Given the description of an element on the screen output the (x, y) to click on. 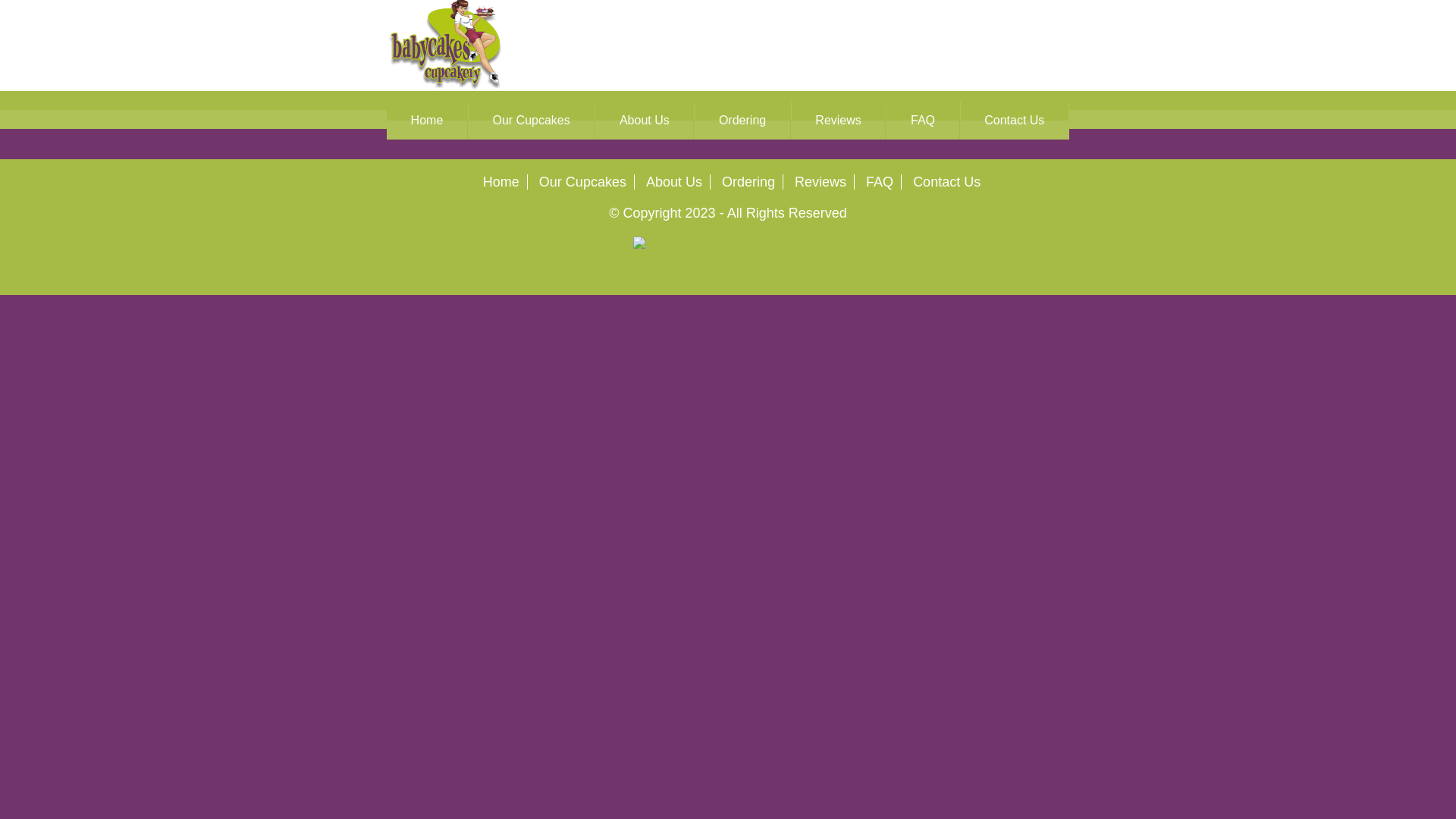
Ordering Element type: text (741, 120)
Reviews Element type: text (838, 120)
About Us Element type: text (644, 120)
Our Cupcakes Element type: text (582, 181)
Contact Us Element type: text (946, 181)
Our Cupcakes Element type: text (530, 120)
Home Element type: text (501, 181)
Join! Element type: text (1040, 94)
Home Element type: text (426, 120)
Ordering Element type: text (748, 181)
Reviews Element type: text (820, 181)
FAQ Element type: text (879, 181)
FAQ Element type: text (922, 120)
Contact Us Element type: text (1014, 120)
About Us Element type: text (674, 181)
